Given the description of an element on the screen output the (x, y) to click on. 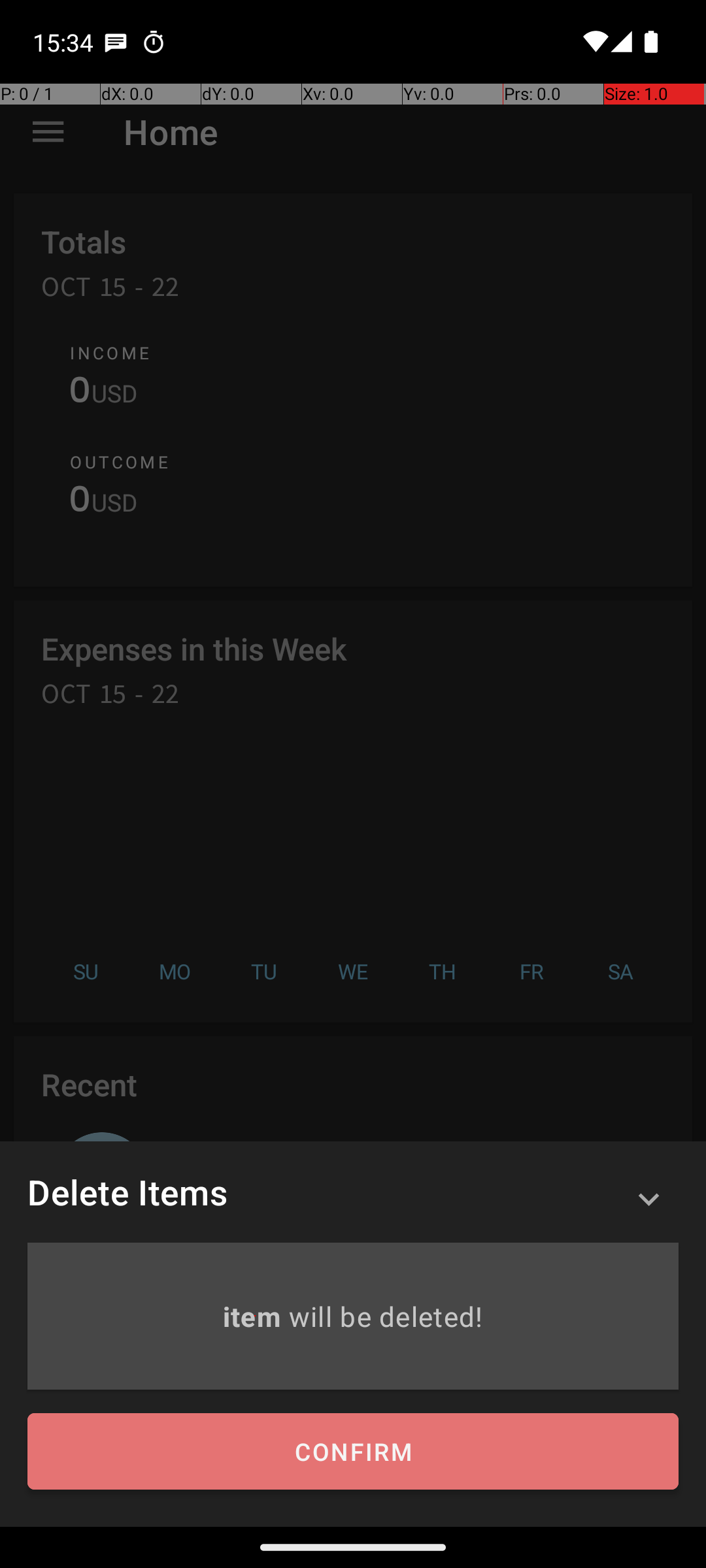
SMS Messenger notification: Emily Ibrahim Element type: android.widget.ImageView (115, 41)
